Given the description of an element on the screen output the (x, y) to click on. 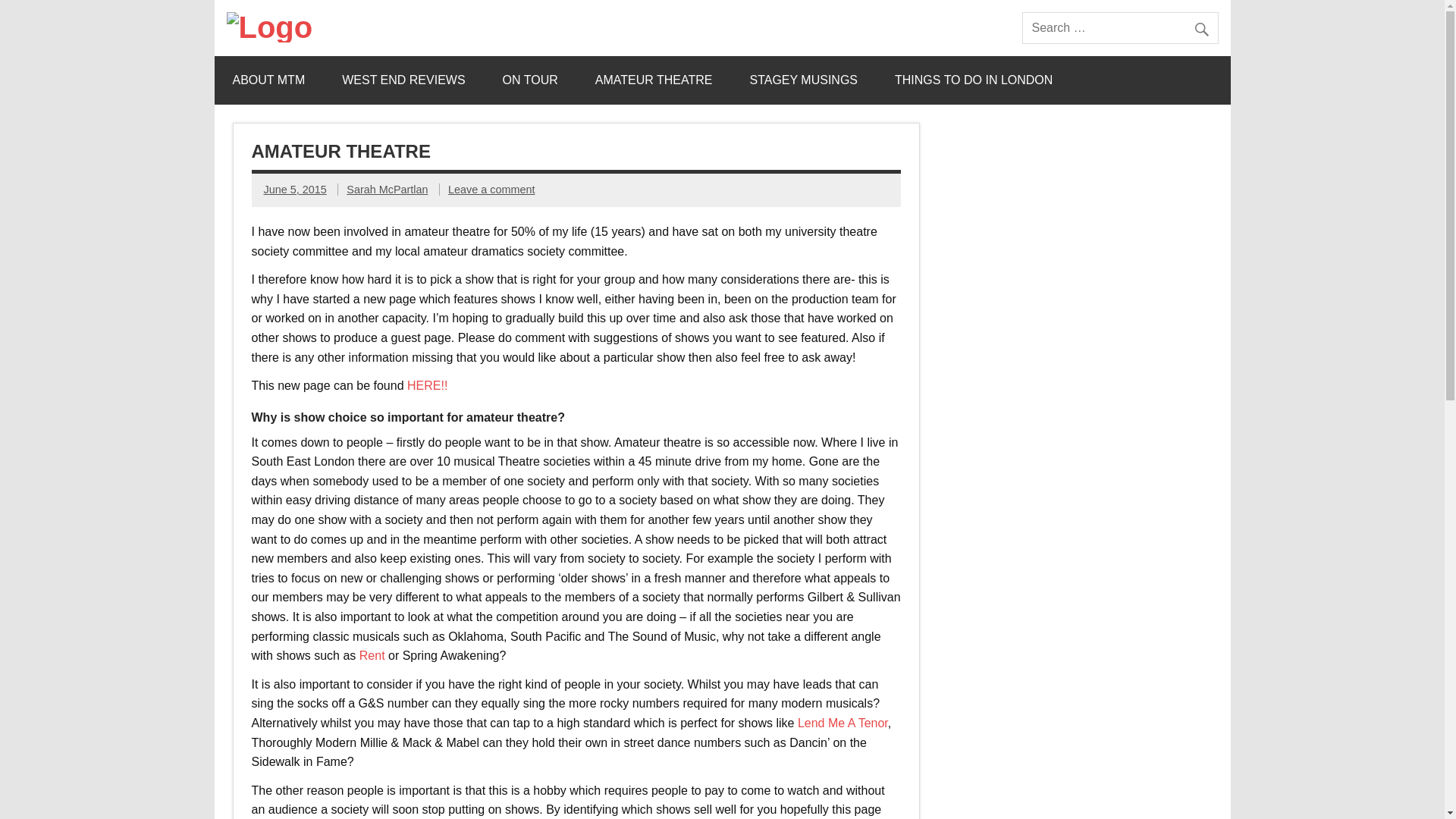
WEST END REVIEWS (403, 80)
10:45 pm (294, 189)
About Musical Theatre Musings (268, 80)
ABOUT MTM (268, 80)
View all posts by Sarah McPartlan (387, 189)
ON TOUR (530, 80)
